Given the description of an element on the screen output the (x, y) to click on. 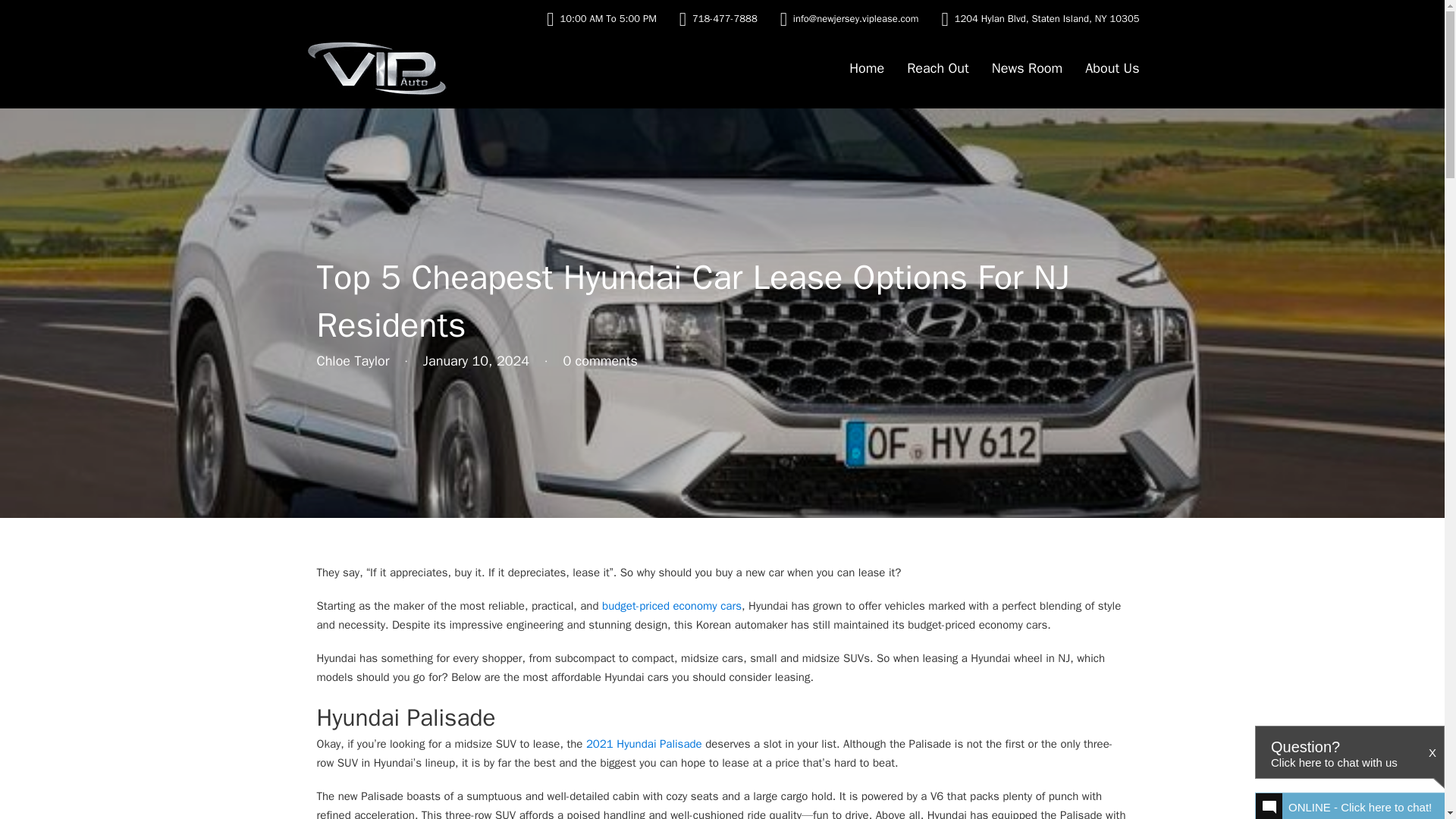
Home (865, 68)
budget-priced economy cars (671, 605)
About Us (1111, 68)
2021 Hyundai Palisade (643, 744)
Reach Out (938, 68)
718-477-7888 (725, 18)
News Room (1026, 68)
